Given the description of an element on the screen output the (x, y) to click on. 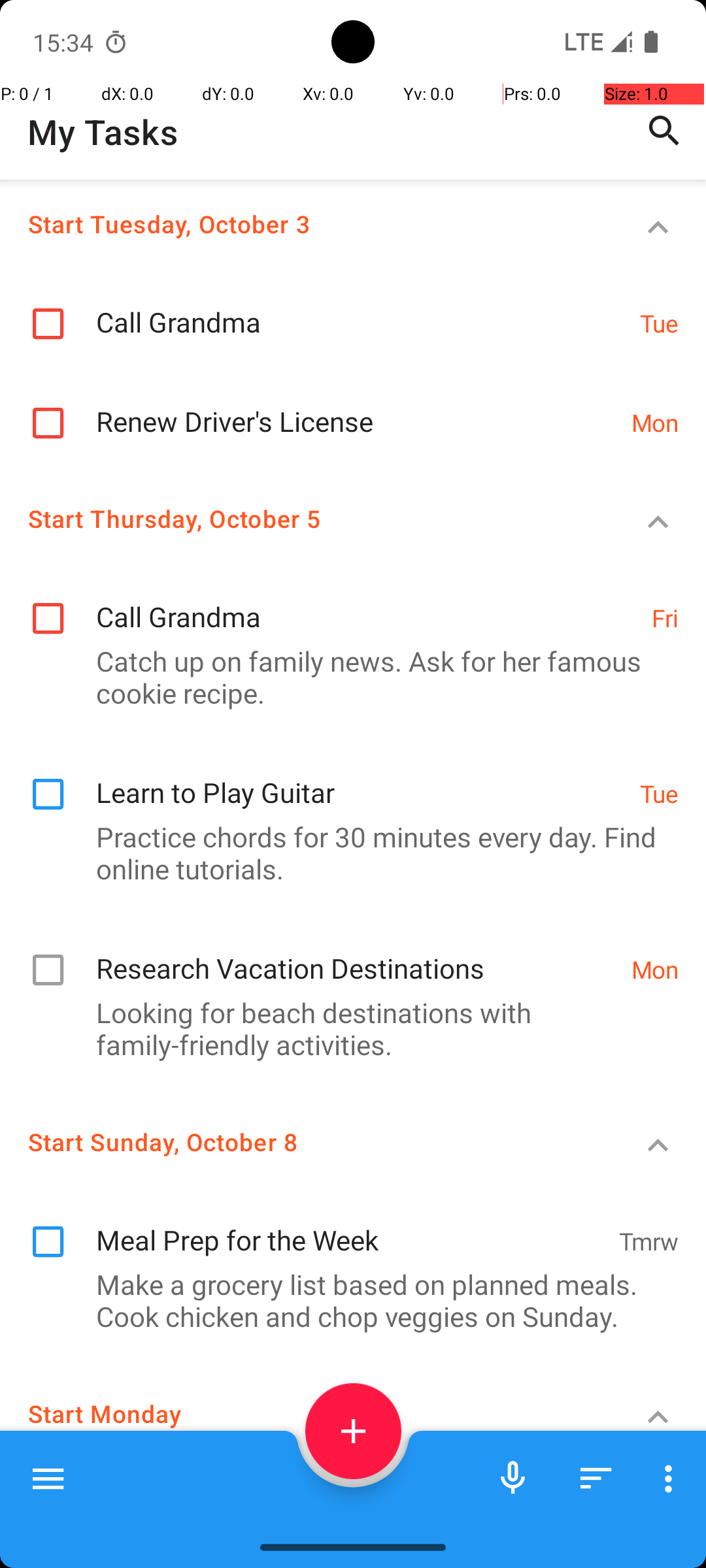
Start Tuesday, October 3 Element type: android.widget.TextView (304, 223)
Start Thursday, October 5 Element type: android.widget.TextView (304, 518)
Start Sunday, October 8 Element type: android.widget.TextView (304, 1141)
Start Monday Element type: android.widget.TextView (304, 1413)
Catch up on family news. Ask for her famous cookie recipe. Element type: android.widget.TextView (346, 676)
Practice chords for 30 minutes every day. Find online tutorials. Element type: android.widget.TextView (346, 852)
Looking for beach destinations with family-friendly activities. Element type: android.widget.TextView (346, 1027)
Make a grocery list based on planned meals. Cook chicken and chop veggies on Sunday. Element type: android.widget.TextView (346, 1299)
